Given the description of an element on the screen output the (x, y) to click on. 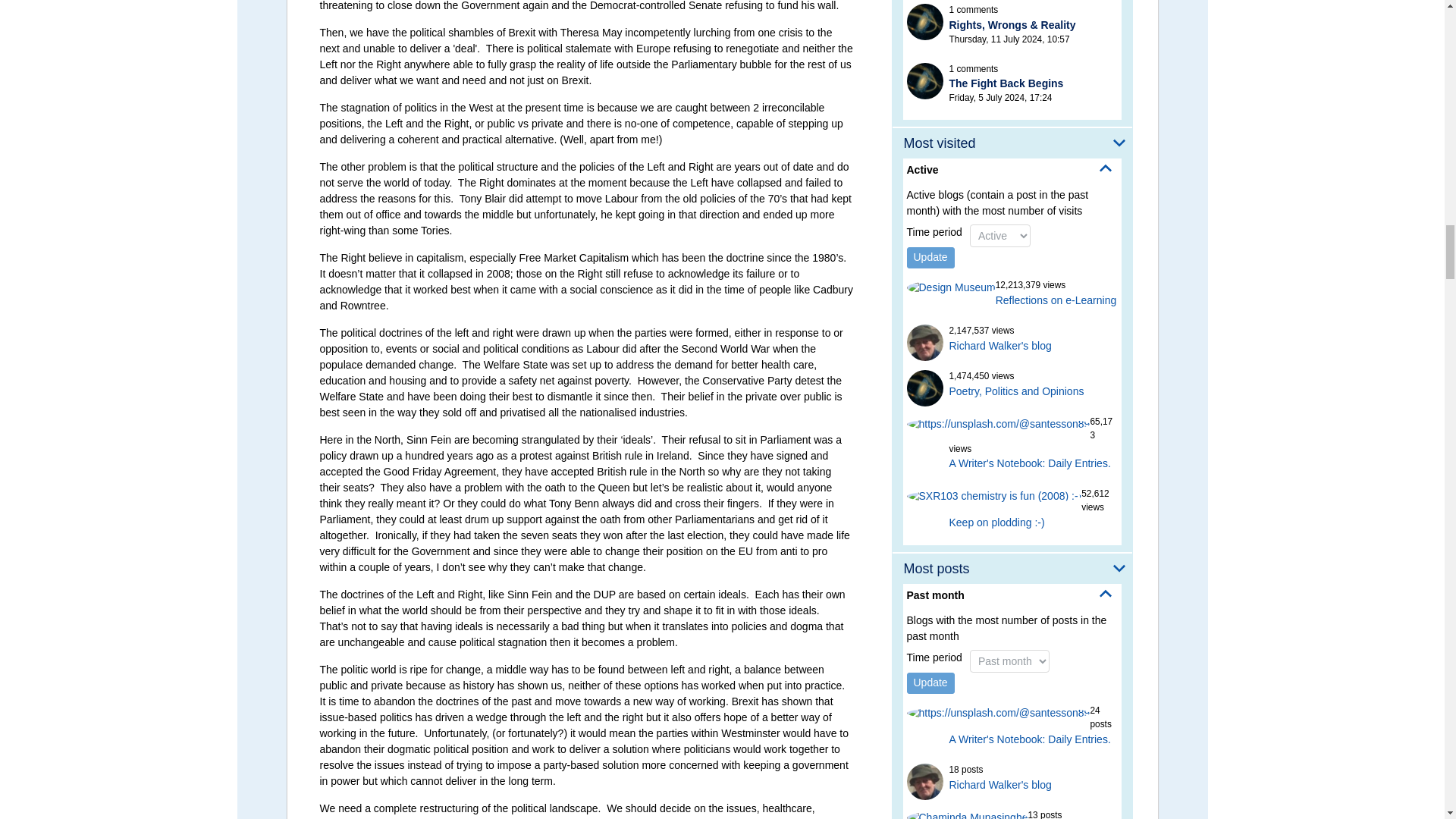
Weddin (925, 81)
Update (931, 682)
Update (931, 257)
Weddin (925, 22)
Hide options (1105, 168)
